Given the description of an element on the screen output the (x, y) to click on. 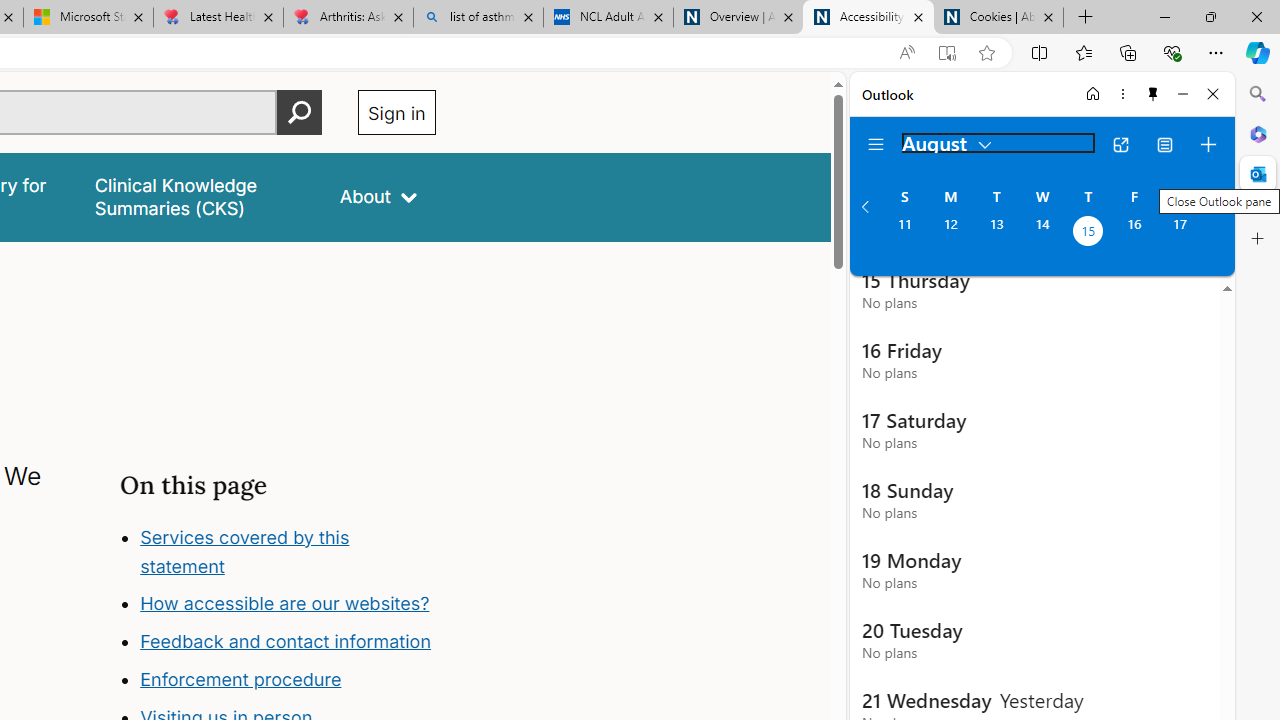
Services covered by this statement (244, 551)
Enforcement procedure (240, 679)
Unpin side pane (1153, 93)
Tuesday, August 13, 2024.  (996, 233)
false (198, 196)
NCL Adult Asthma Inhaler Choice Guideline (608, 17)
Open in new tab (1120, 144)
Sunday, August 11, 2024.  (904, 233)
